Given the description of an element on the screen output the (x, y) to click on. 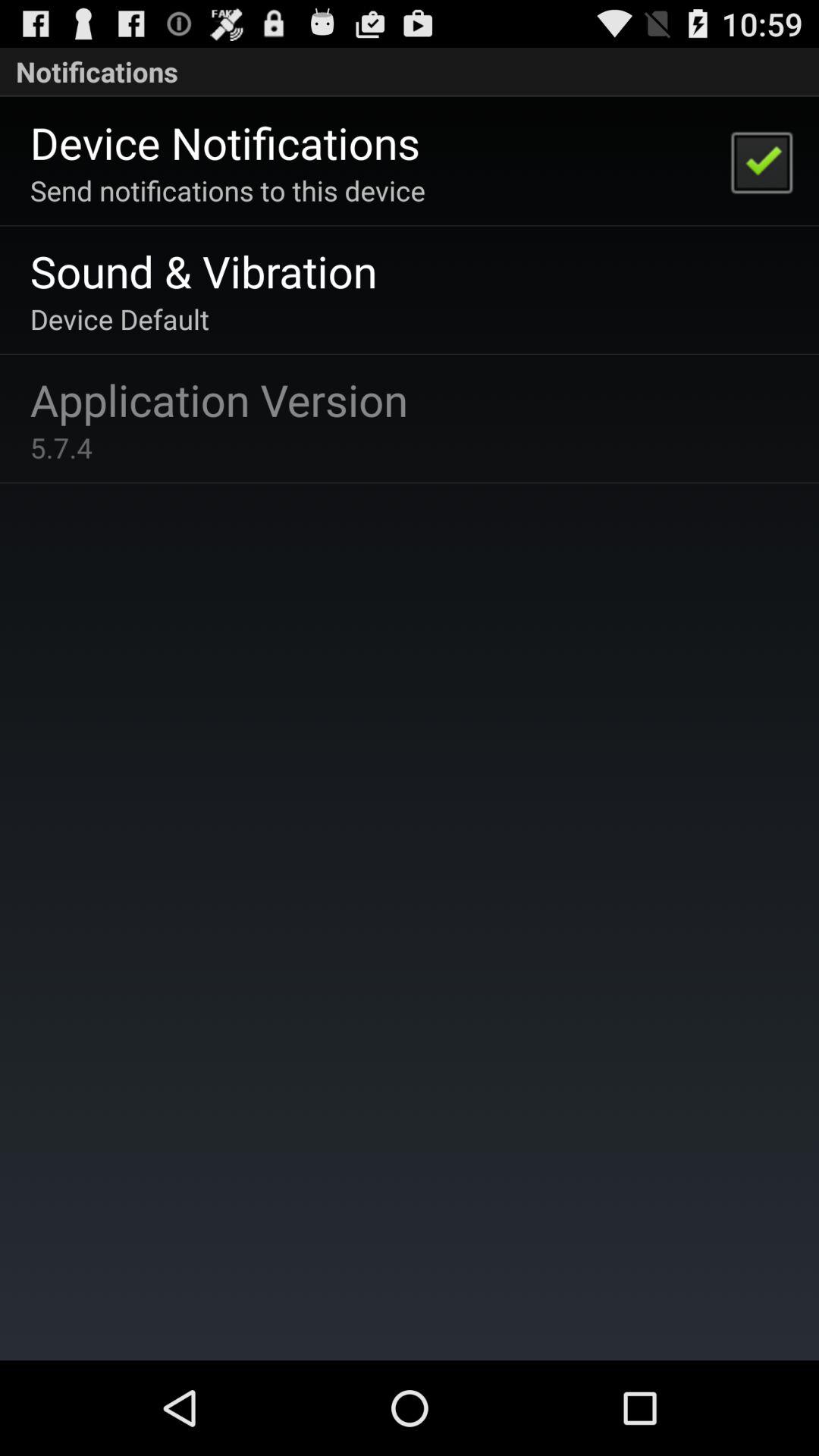
tap sound & vibration (203, 270)
